Given the description of an element on the screen output the (x, y) to click on. 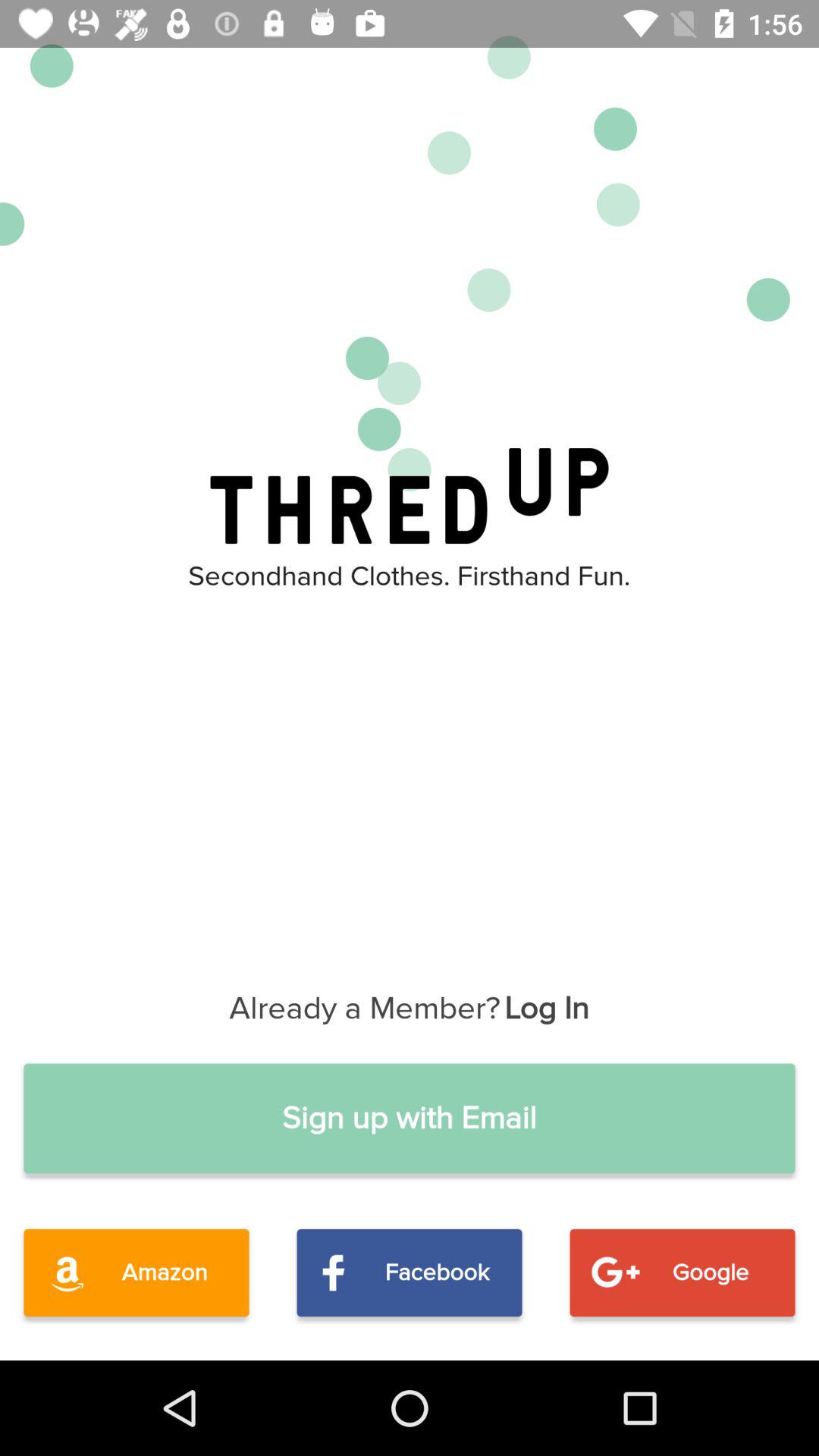
turn on item next to amazon icon (409, 1272)
